Given the description of an element on the screen output the (x, y) to click on. 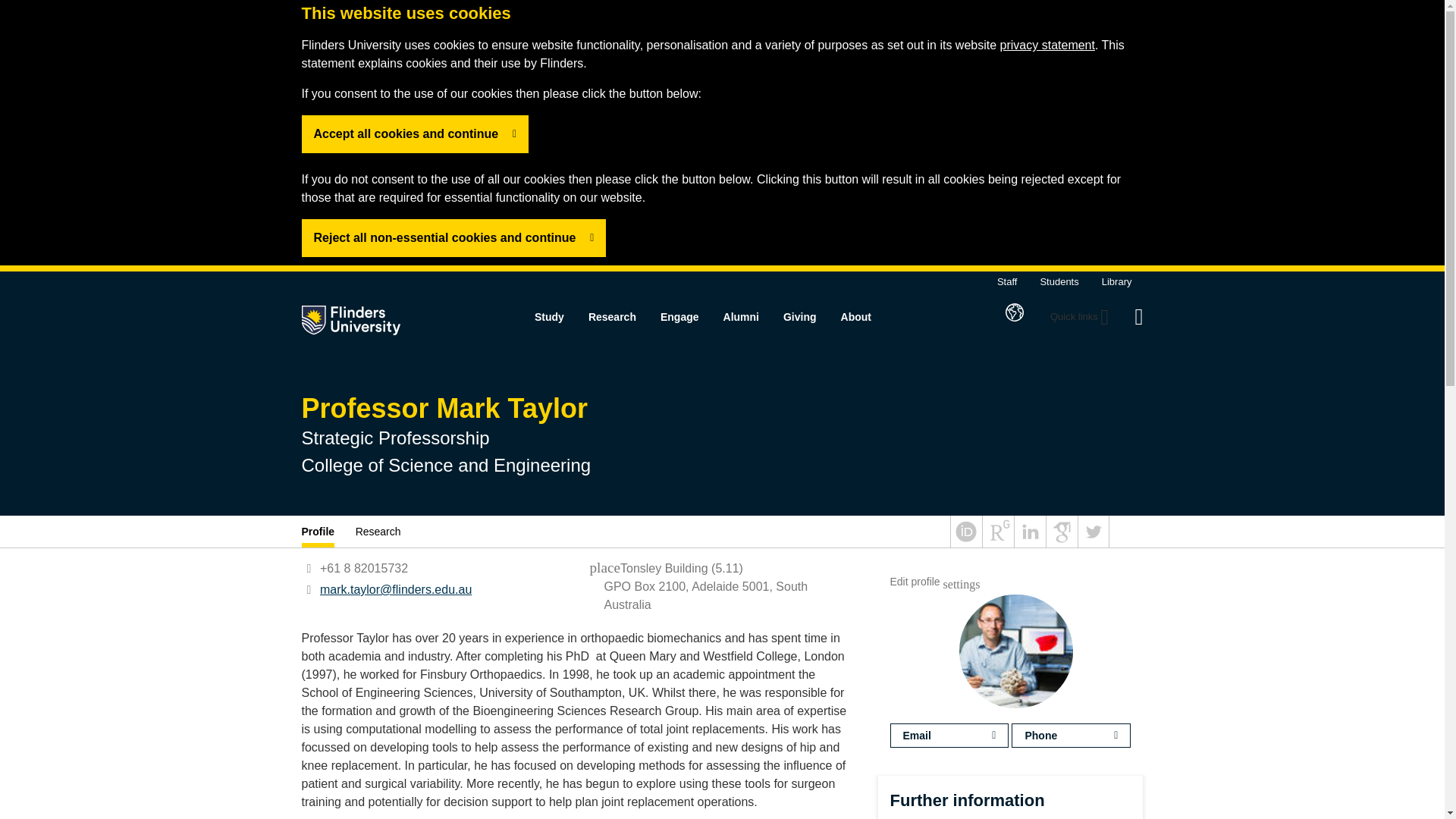
LinkedIn - Mark Taylor (1029, 543)
Google Scholar - Mark Taylor (1061, 543)
Twitter - Mark Taylor (1093, 543)
Staff (1007, 281)
Research (377, 531)
ResearchGate - Mark Taylor (997, 543)
Library (1117, 281)
ORCID ID - Mark Taylor (965, 543)
Profile (323, 531)
Students (1058, 281)
